Given the description of an element on the screen output the (x, y) to click on. 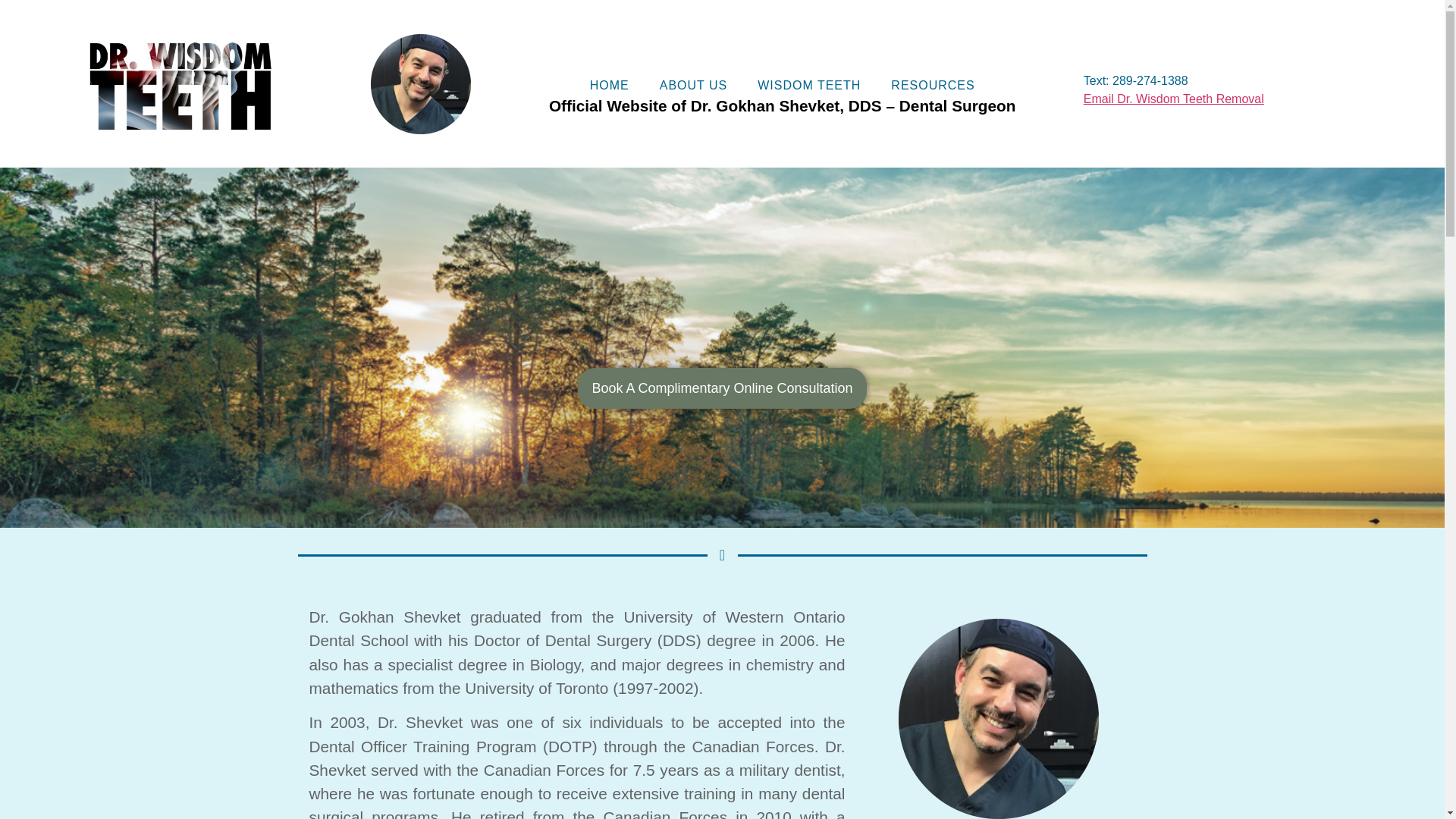
Book A Complimentary Online Consultation (722, 387)
WISDOM TEETH (809, 85)
Email Dr. Wisdom Teeth Removal (1173, 98)
ABOUT US (693, 85)
HOME (610, 85)
RESOURCES (933, 85)
